Given the description of an element on the screen output the (x, y) to click on. 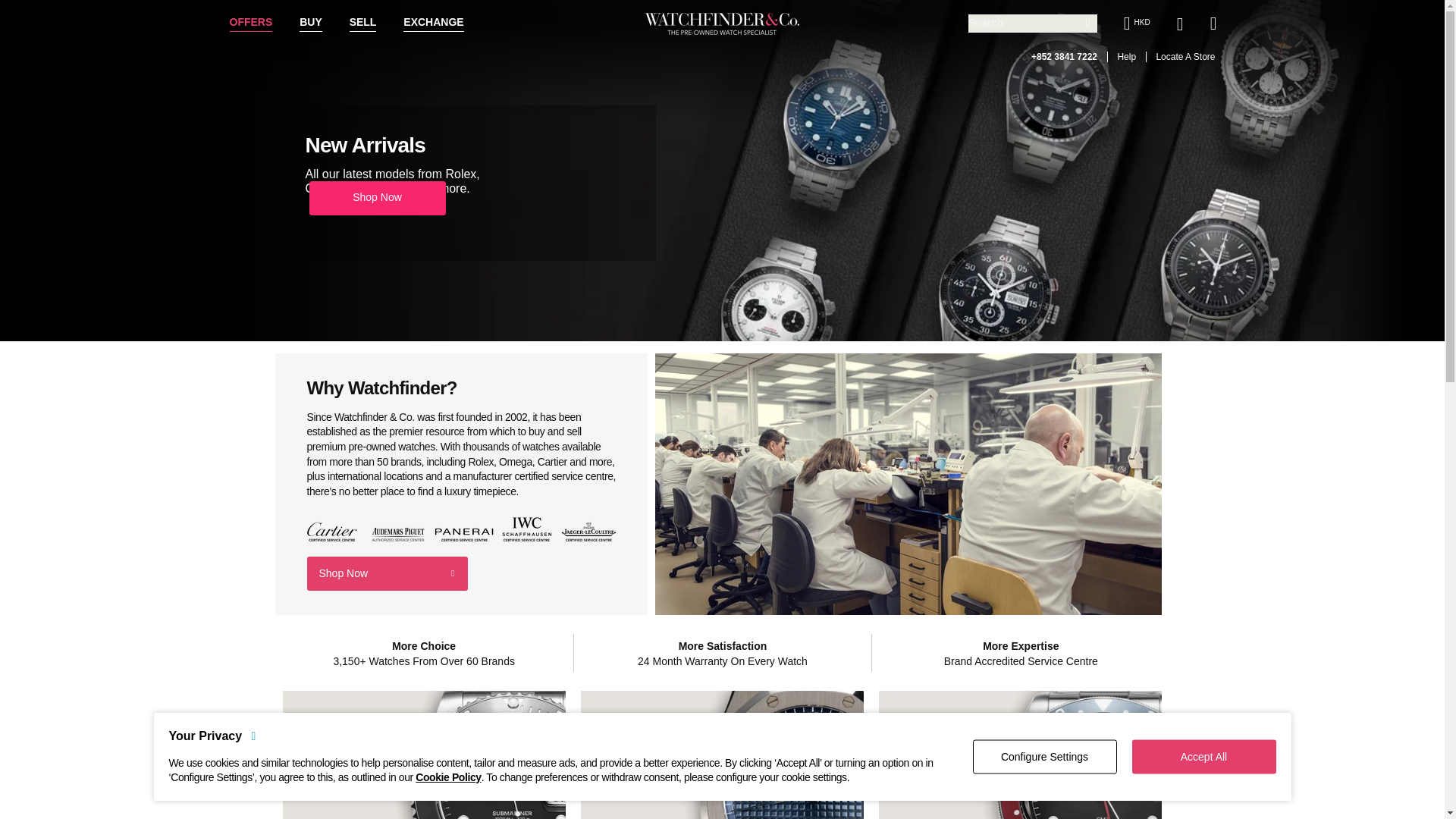
EXCHANGE (433, 22)
HKD (1131, 23)
Locate A Store (1179, 56)
SELL (363, 22)
BUY (310, 22)
Help (1120, 56)
OFFERS (250, 22)
